Given the description of an element on the screen output the (x, y) to click on. 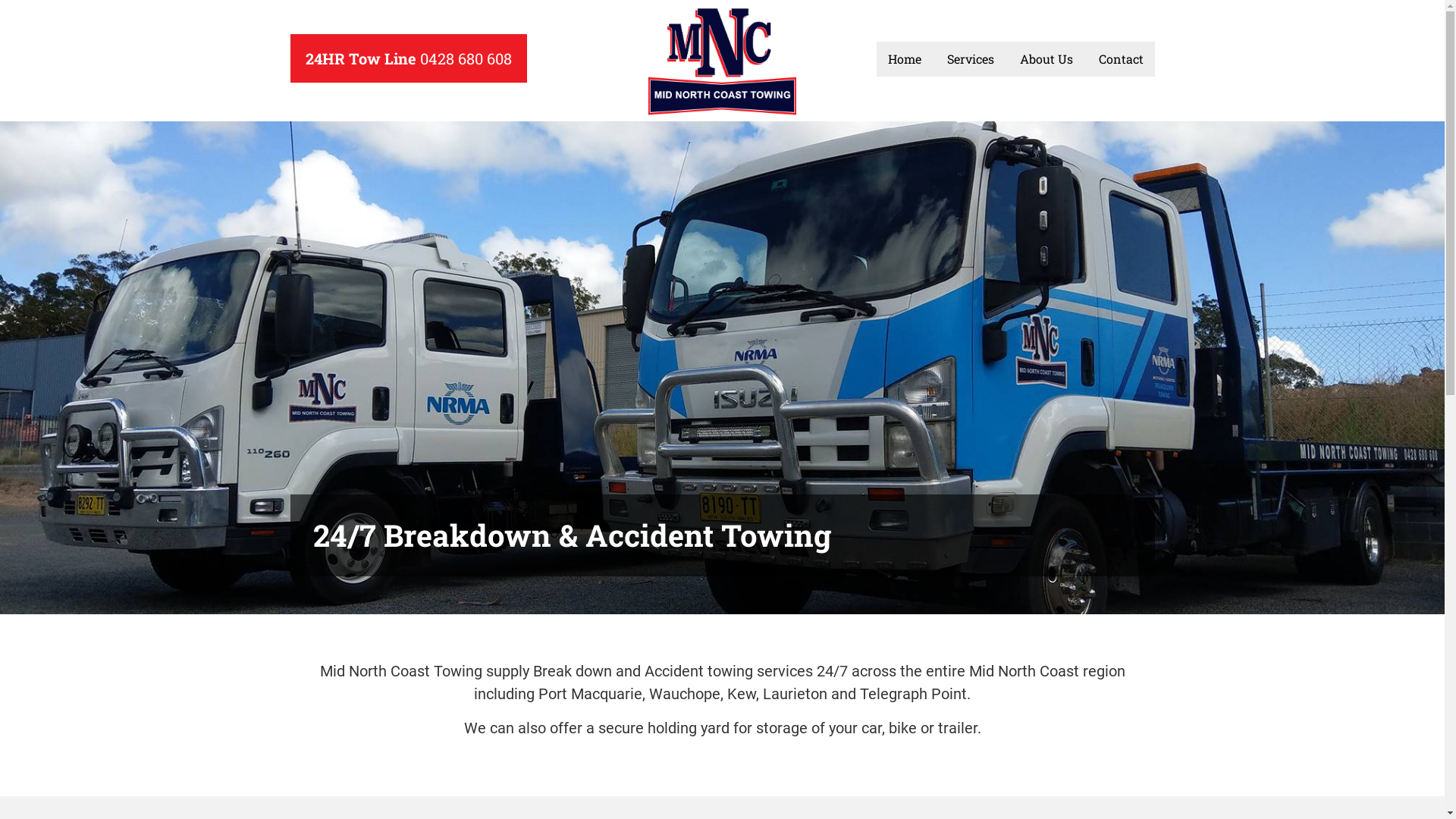
Services Element type: text (970, 58)
Home Element type: text (904, 58)
About Us Element type: text (1046, 58)
24HR Tow Line 0428 680 608 Element type: text (407, 58)
Contact Element type: text (1120, 58)
